Given the description of an element on the screen output the (x, y) to click on. 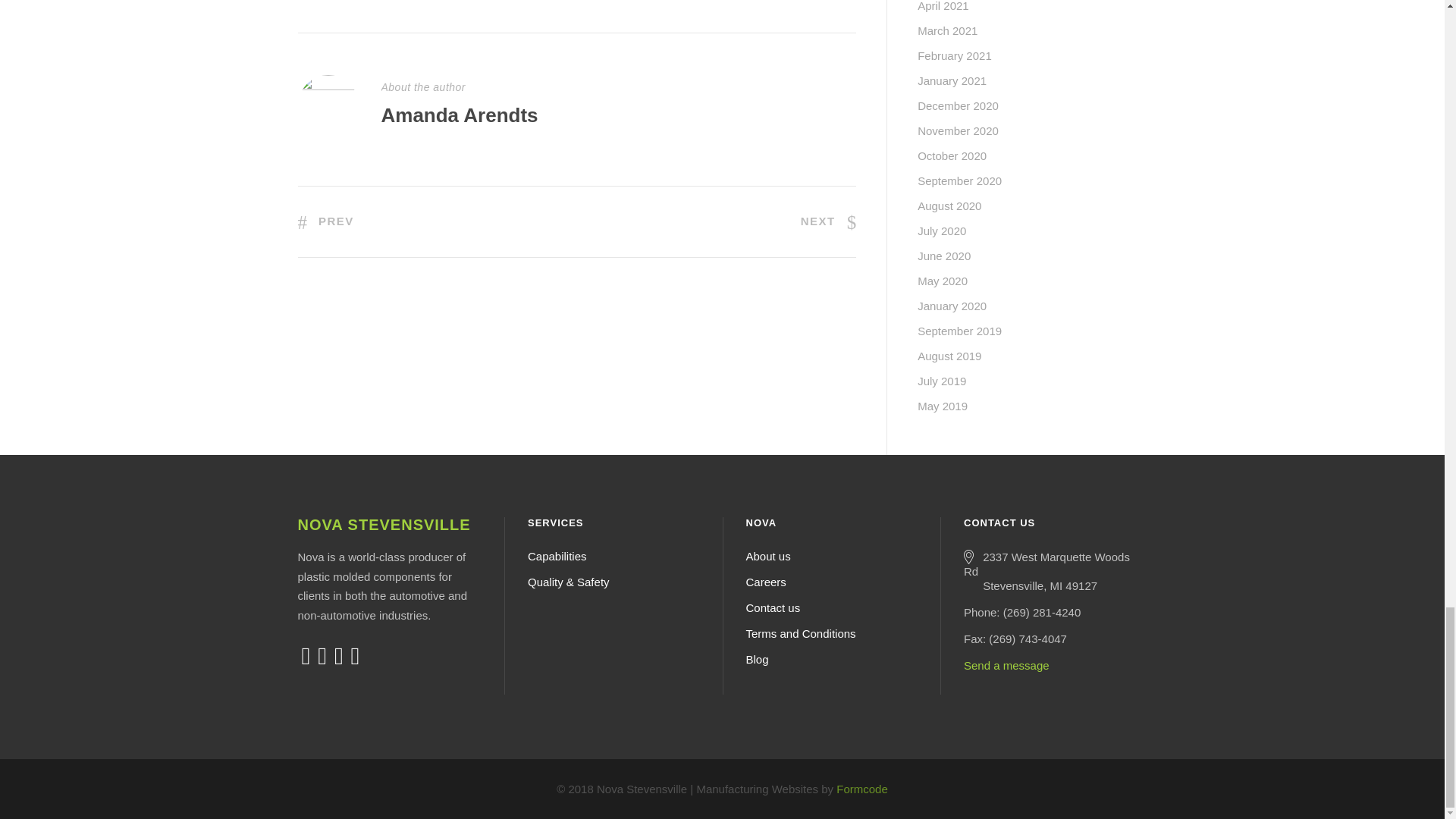
Amanda Arendts (458, 115)
NEXT (828, 220)
Posts by Amanda Arendts (458, 115)
PREV (325, 220)
